Given the description of an element on the screen output the (x, y) to click on. 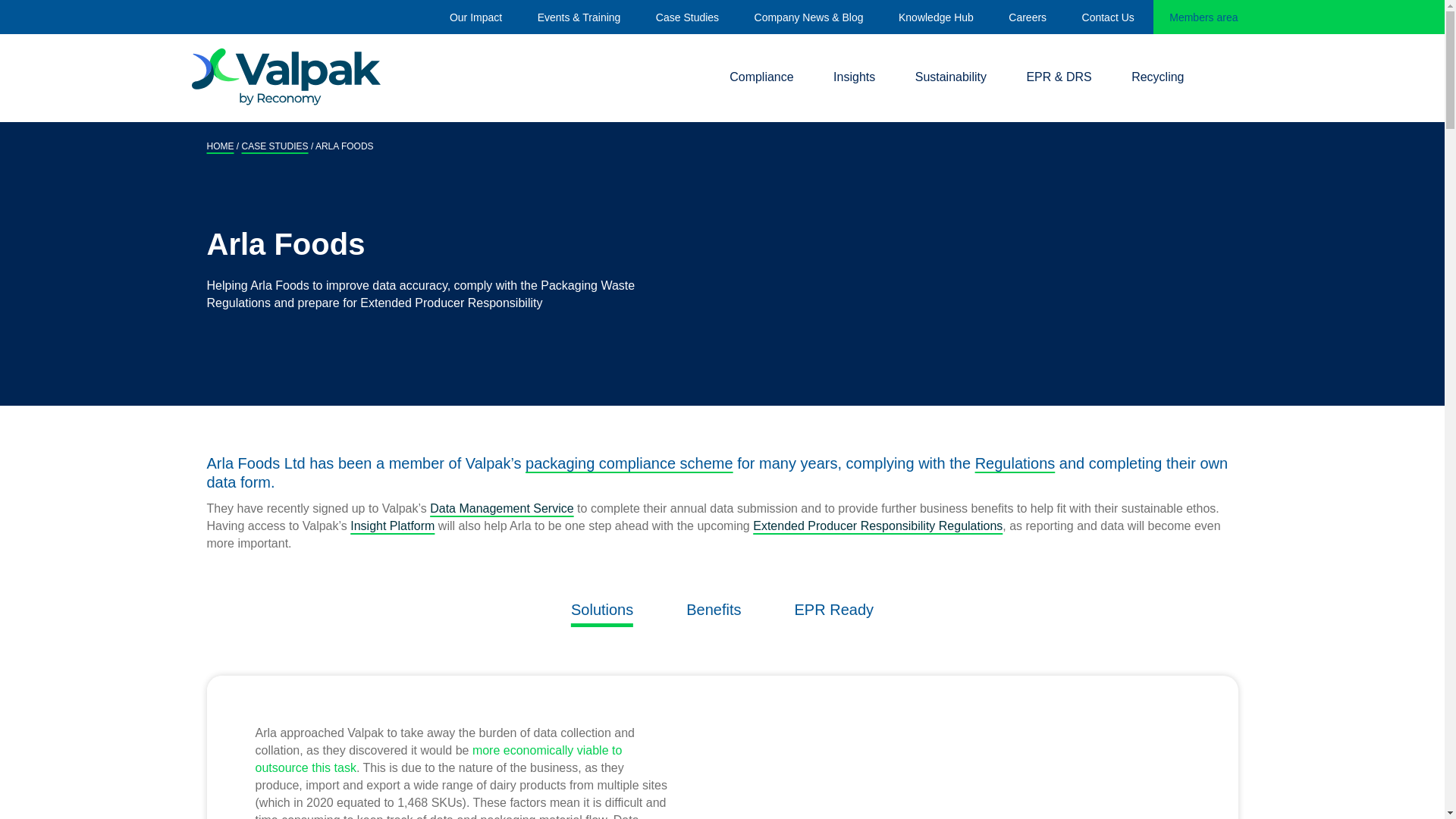
Insights (853, 76)
Case Studies (687, 17)
Careers (1027, 17)
Our Impact (475, 17)
Knowledge Hub (936, 17)
Members area (1203, 17)
Compliance (761, 76)
Contact Us (1107, 17)
